Given the description of an element on the screen output the (x, y) to click on. 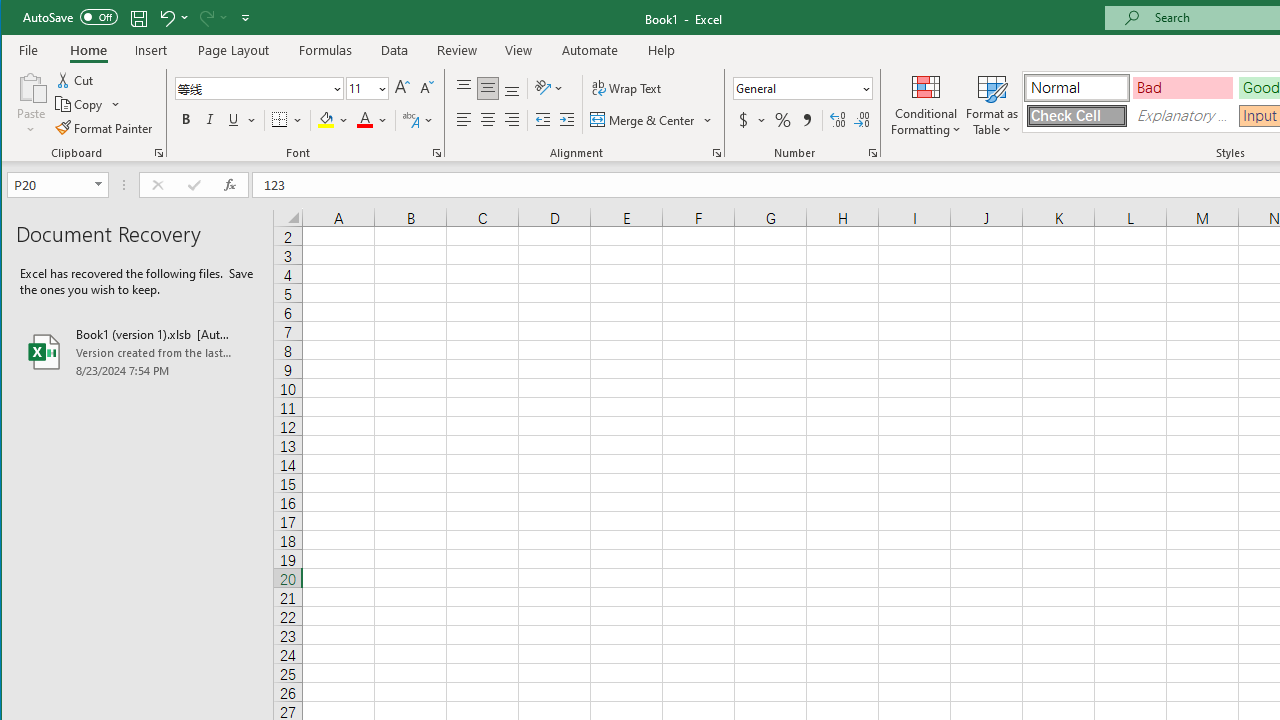
Paste (31, 104)
Wrap Text (627, 88)
Show Phonetic Field (410, 119)
